Given the description of an element on the screen output the (x, y) to click on. 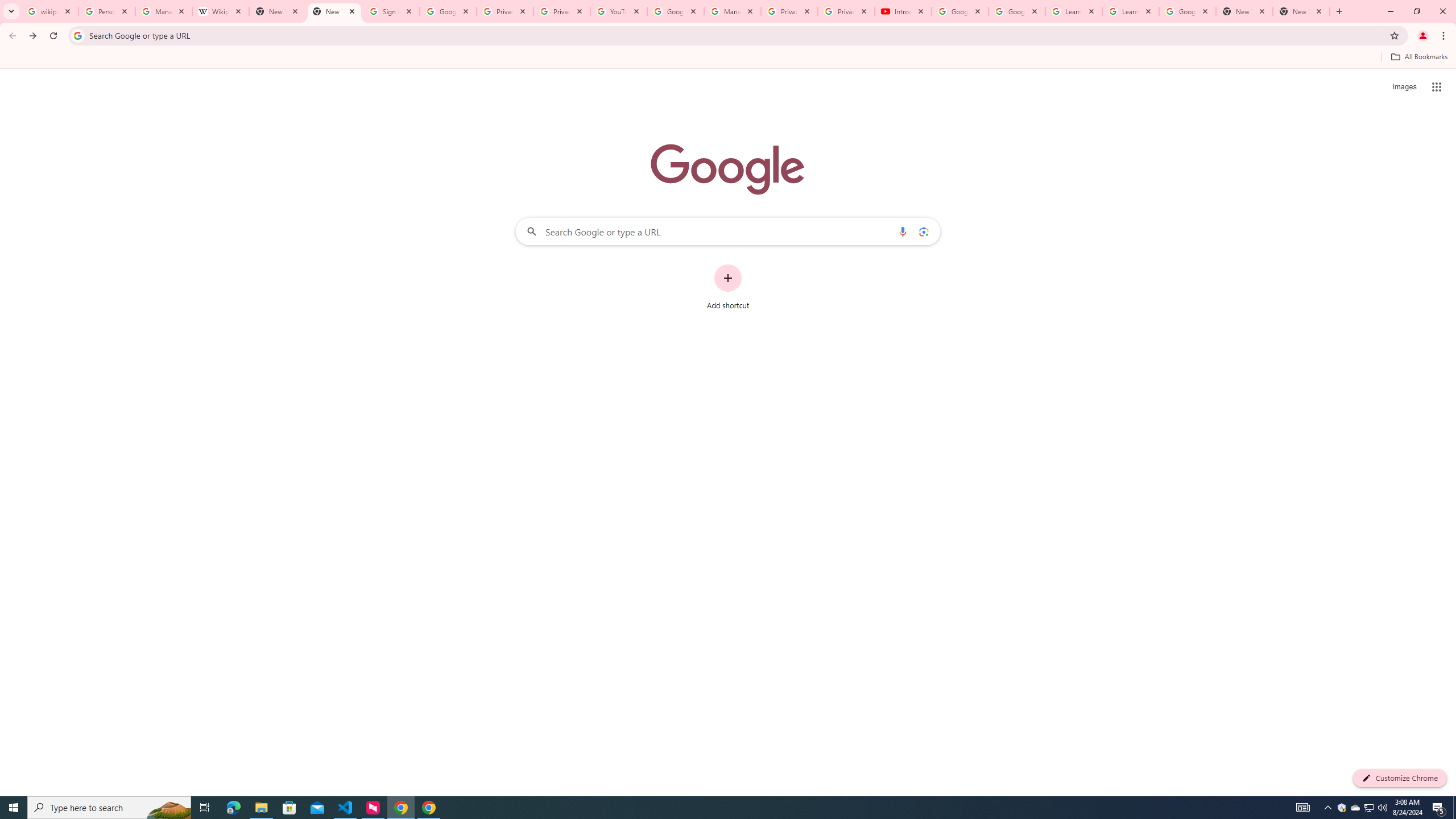
New Tab (334, 11)
Wikipedia:Edit requests - Wikipedia (220, 11)
Google Account Help (675, 11)
YouTube (618, 11)
